Given the description of an element on the screen output the (x, y) to click on. 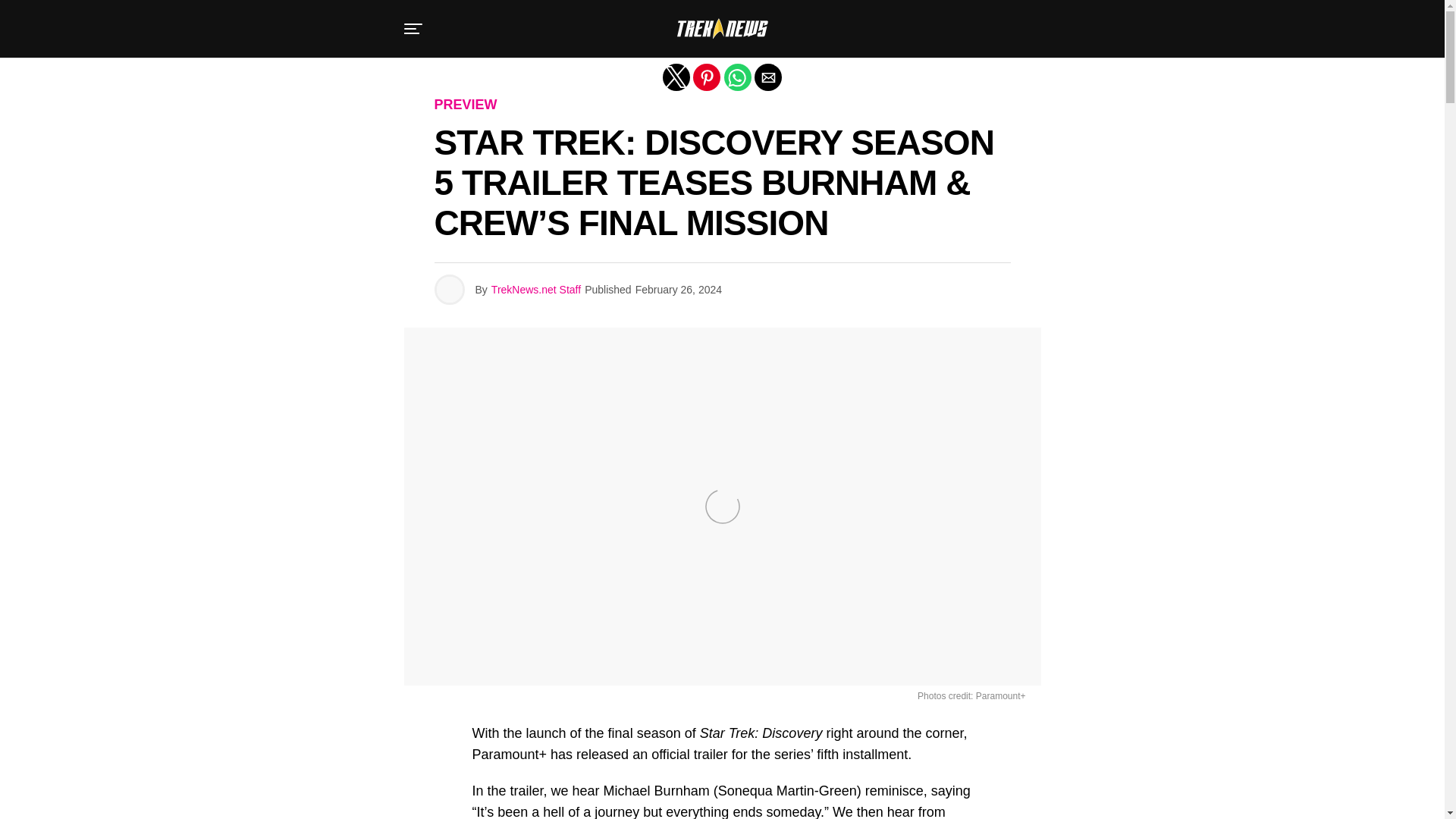
Posts by TrekNews.net Staff (536, 289)
TrekNews.net Staff (536, 289)
PREVIEW (464, 104)
